Given the description of an element on the screen output the (x, y) to click on. 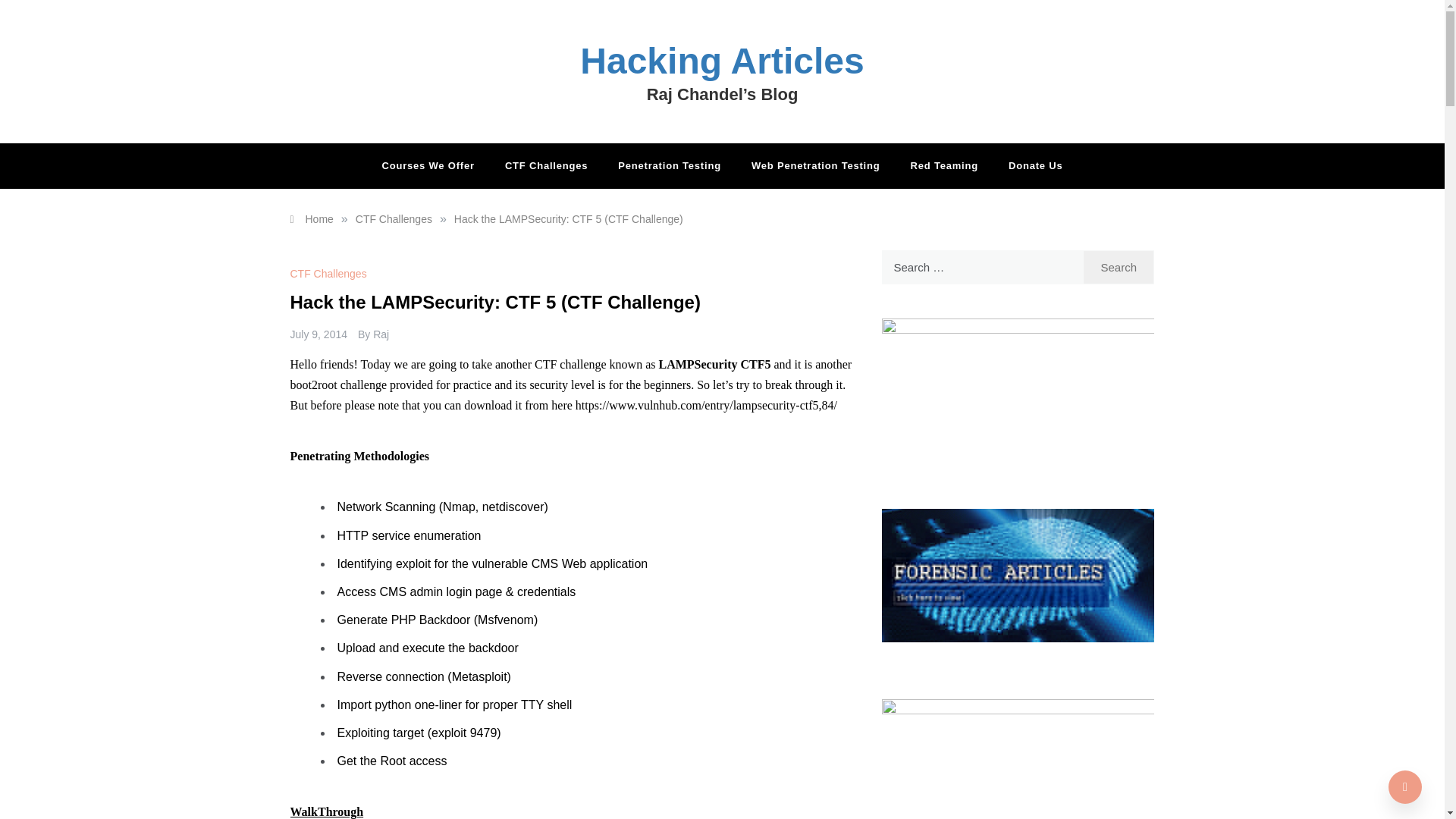
Web Penetration Testing (815, 166)
Red Teaming (943, 166)
July 9, 2014 (318, 334)
Go to Top (1405, 786)
CTF Challenges (545, 166)
Penetration Testing (669, 166)
CTF Challenges (393, 218)
Courses We Offer (435, 166)
Search (1118, 267)
Raj (380, 334)
